Given the description of an element on the screen output the (x, y) to click on. 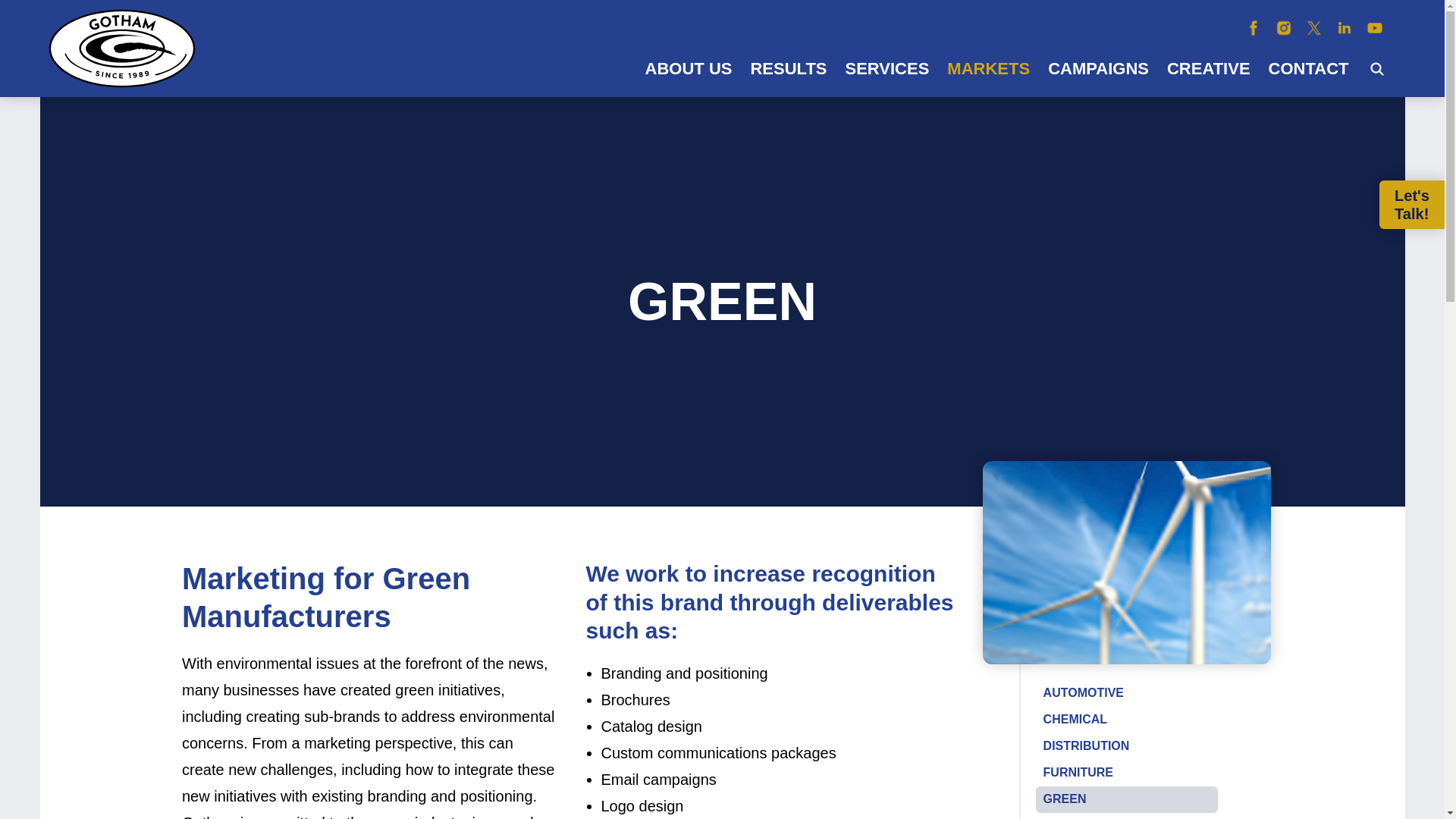
MARKETS (988, 68)
SERVICES (886, 68)
RESULTS (788, 68)
CAMPAIGNS (1098, 68)
ABOUT US (688, 68)
